Given the description of an element on the screen output the (x, y) to click on. 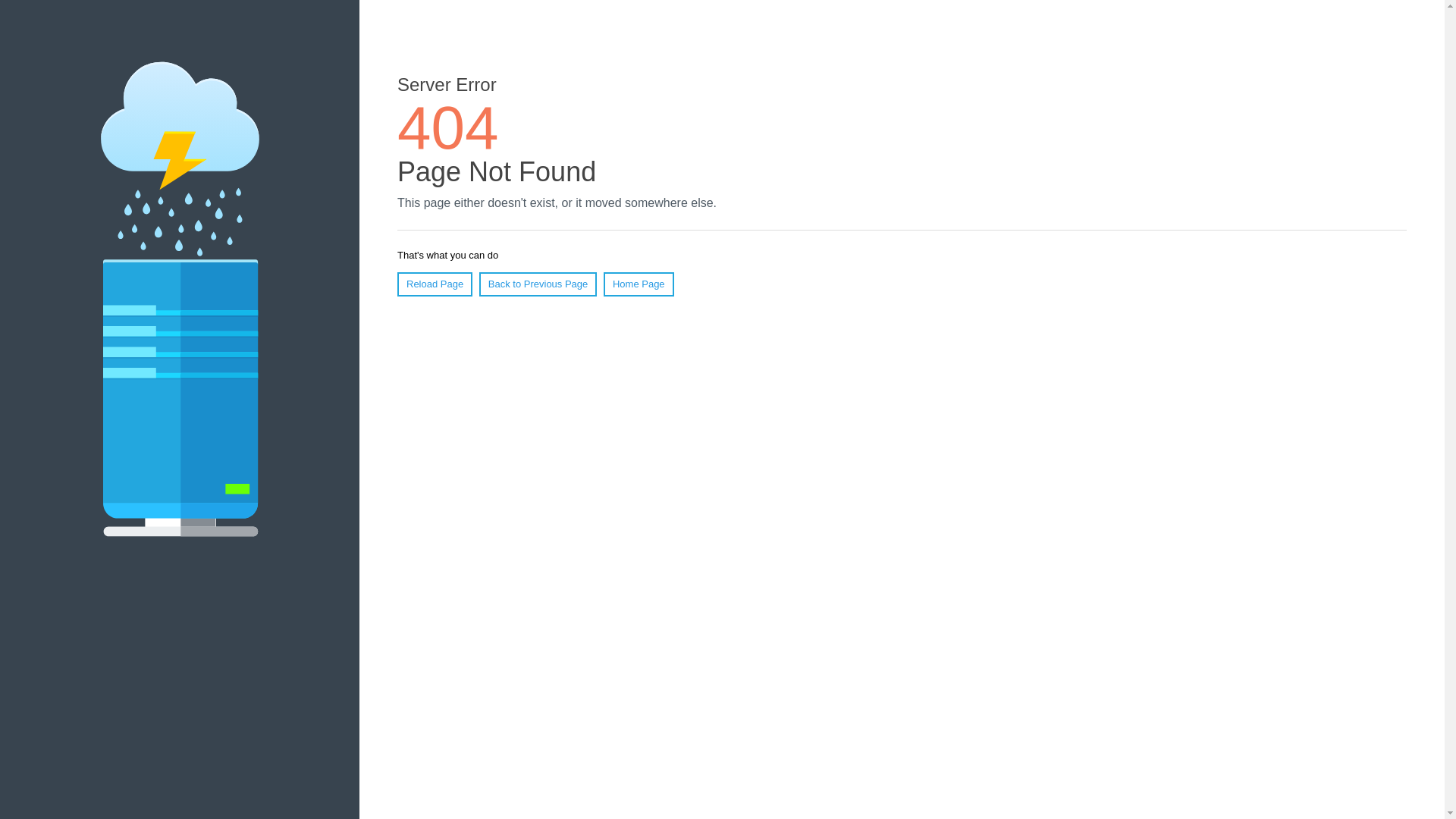
Reload Page Element type: text (434, 284)
Back to Previous Page Element type: text (538, 284)
Home Page Element type: text (638, 284)
